Given the description of an element on the screen output the (x, y) to click on. 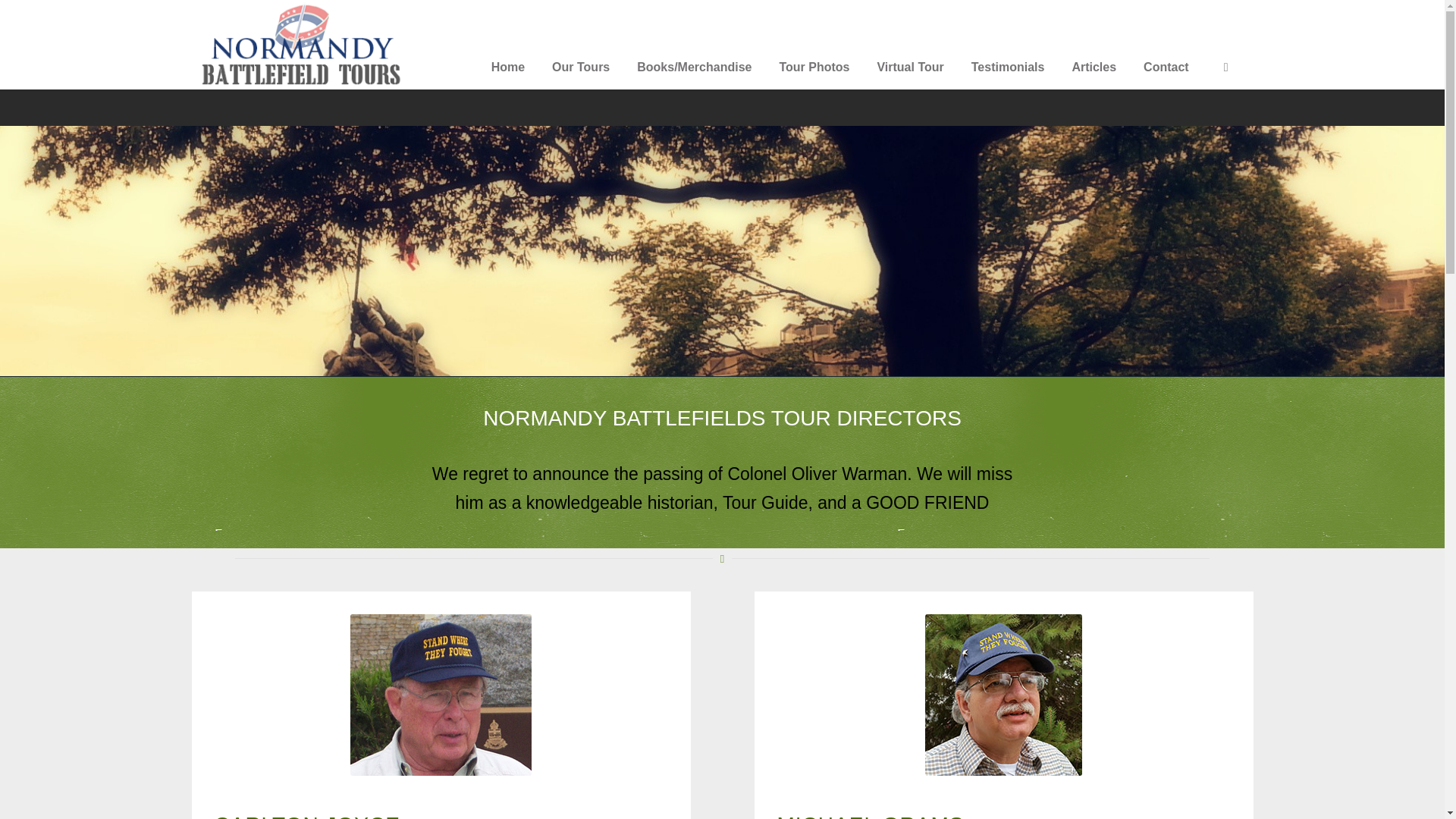
Our Tours (592, 67)
carlton-joyce-normandy-tours (440, 694)
mike-grams-2018 (1002, 694)
Testimonials (1019, 67)
Virtual Tour (921, 67)
Tour Photos (825, 67)
